Given the description of an element on the screen output the (x, y) to click on. 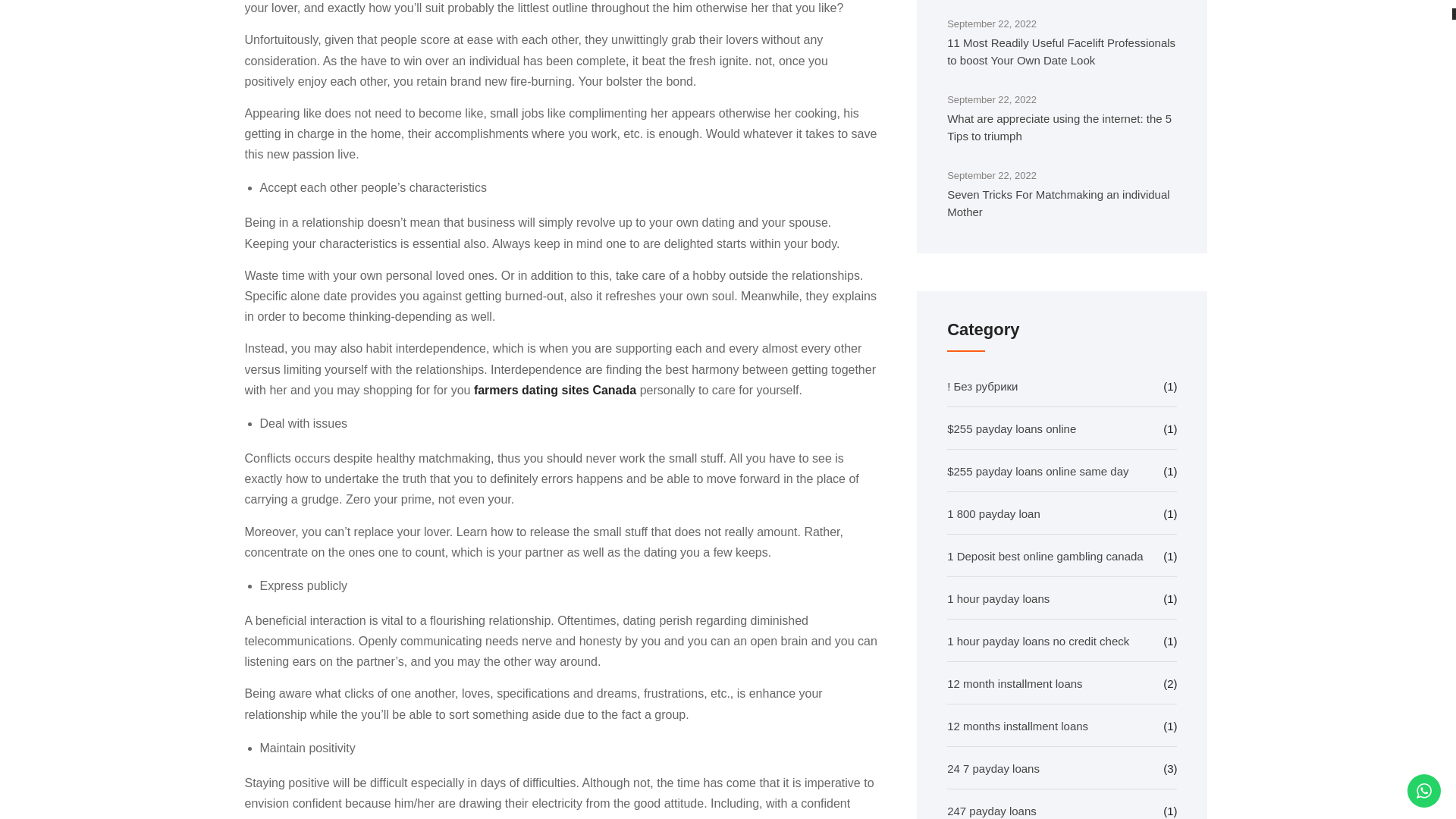
Seven Tricks For Matchmaking an individual Mother (1061, 202)
farmers dating sites Canada (555, 390)
